Given the description of an element on the screen output the (x, y) to click on. 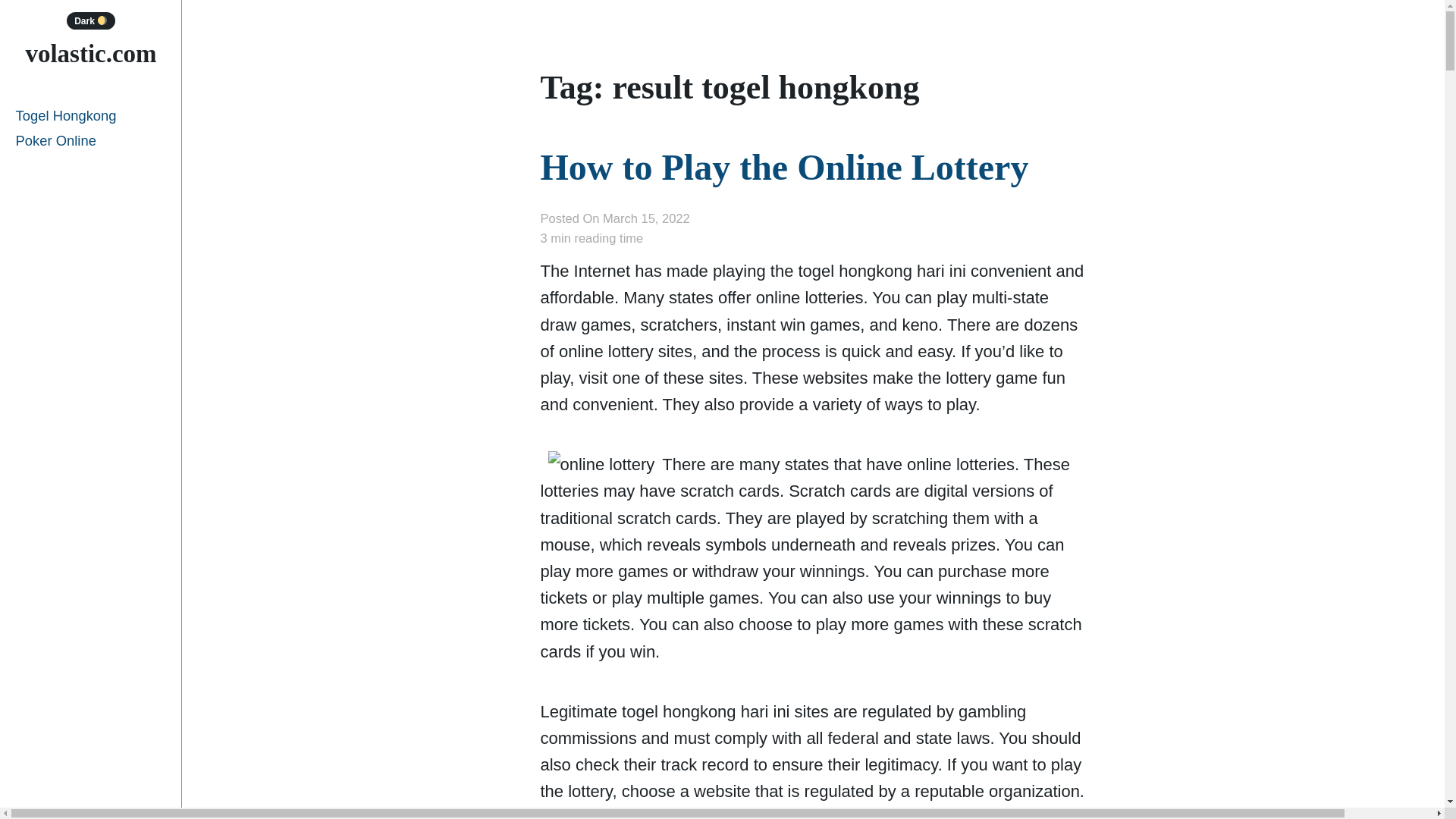
volastic.com (89, 53)
How to Play the Online Lottery (783, 167)
Togel Hongkong (90, 115)
Poker Online (90, 140)
